Given the description of an element on the screen output the (x, y) to click on. 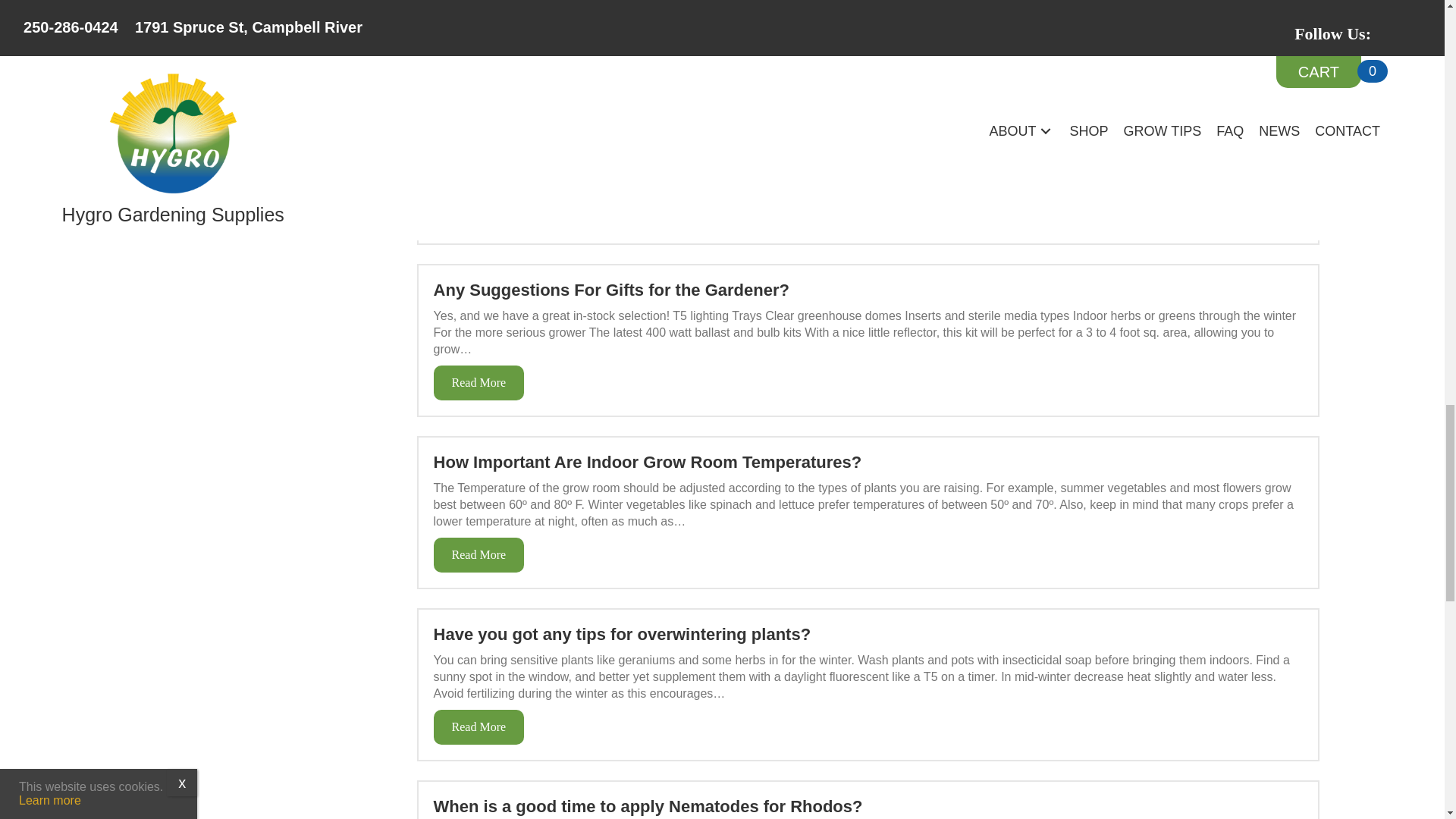
Any Suggestions For Gifts for the Gardener? (611, 289)
Why should I think about pH in my garden? (478, 54)
Any Suggestions For Gifts for the Gardener? (478, 382)
